Given the description of an element on the screen output the (x, y) to click on. 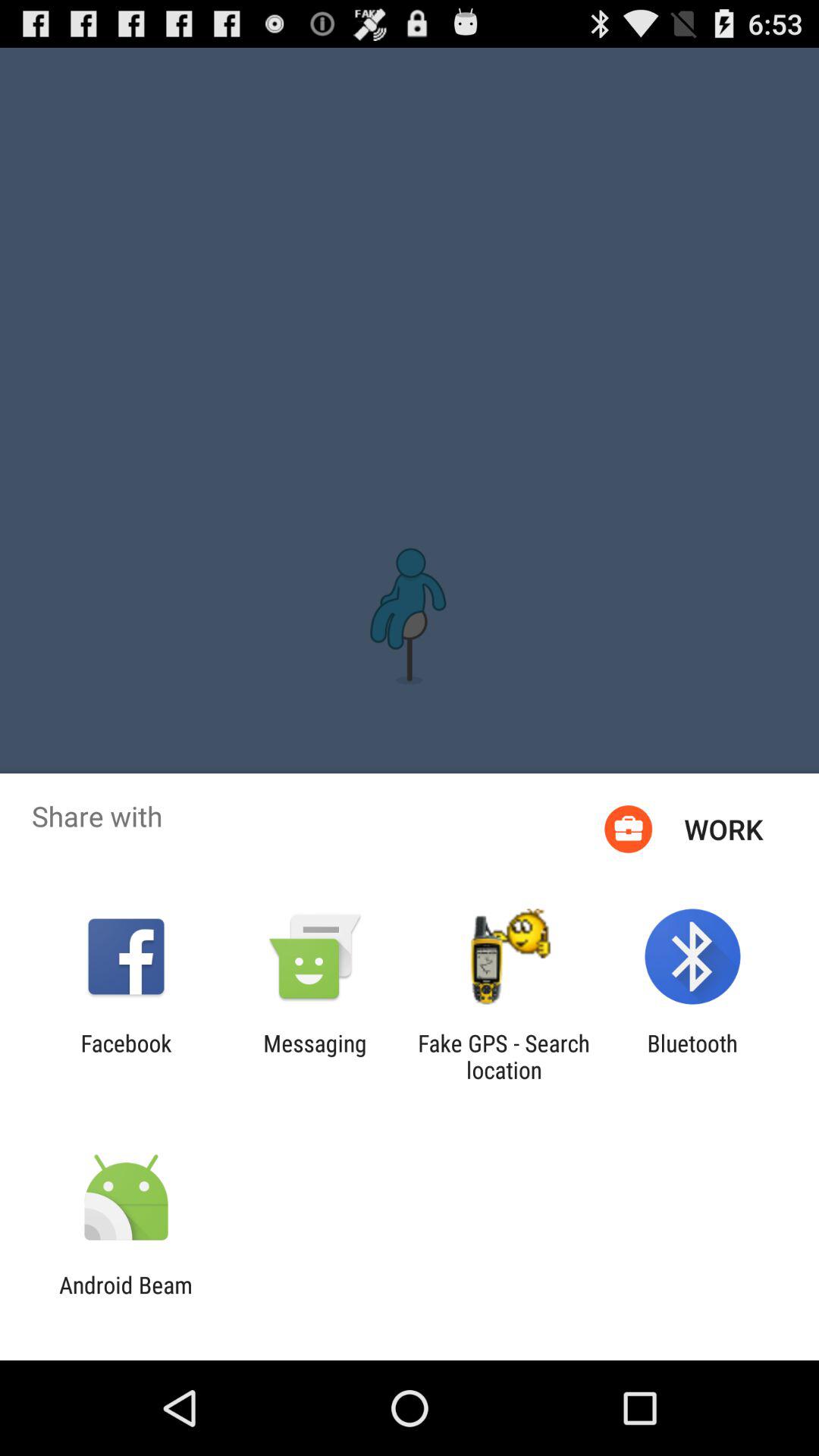
open app next to facebook app (314, 1056)
